Given the description of an element on the screen output the (x, y) to click on. 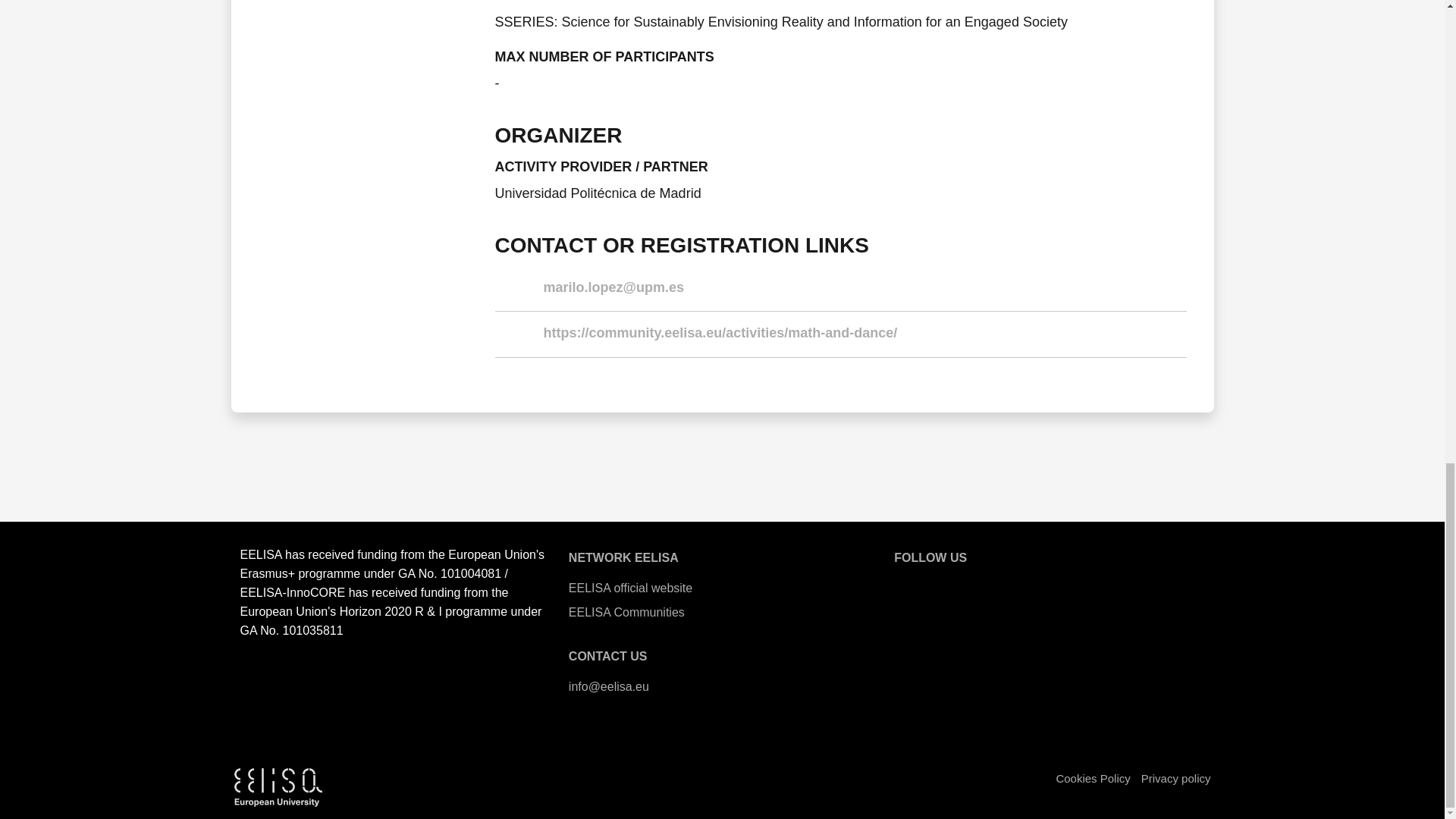
EELISA Website (908, 584)
Go to page: Follow us (929, 557)
Twitter (949, 584)
Go to Contacts page (608, 656)
Facebook (990, 584)
Cookie-Policy (1092, 778)
Logo EELISA (276, 787)
Twitter (949, 584)
Instagram (1031, 584)
Instagram (1031, 584)
